Given the description of an element on the screen output the (x, y) to click on. 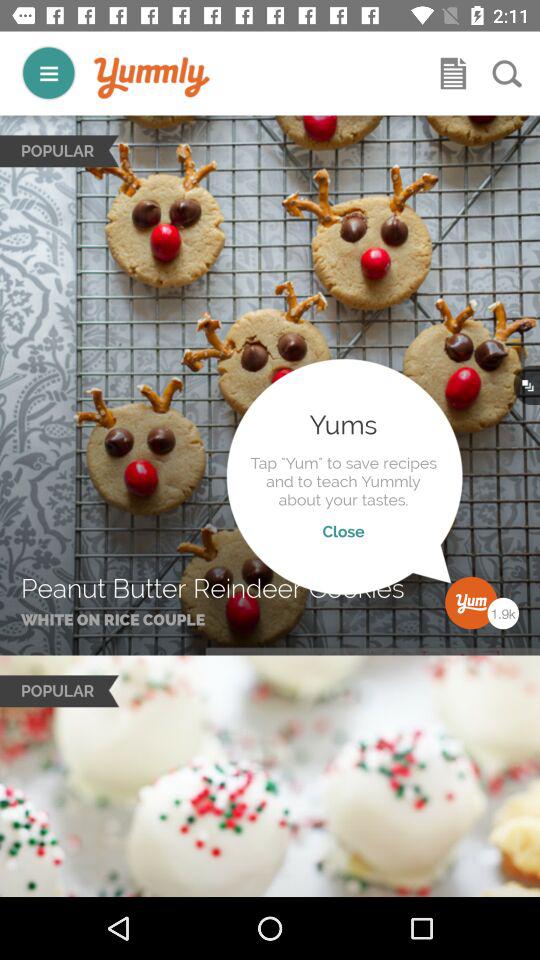
click the views right to yum logo at the page (503, 613)
